Given the description of an element on the screen output the (x, y) to click on. 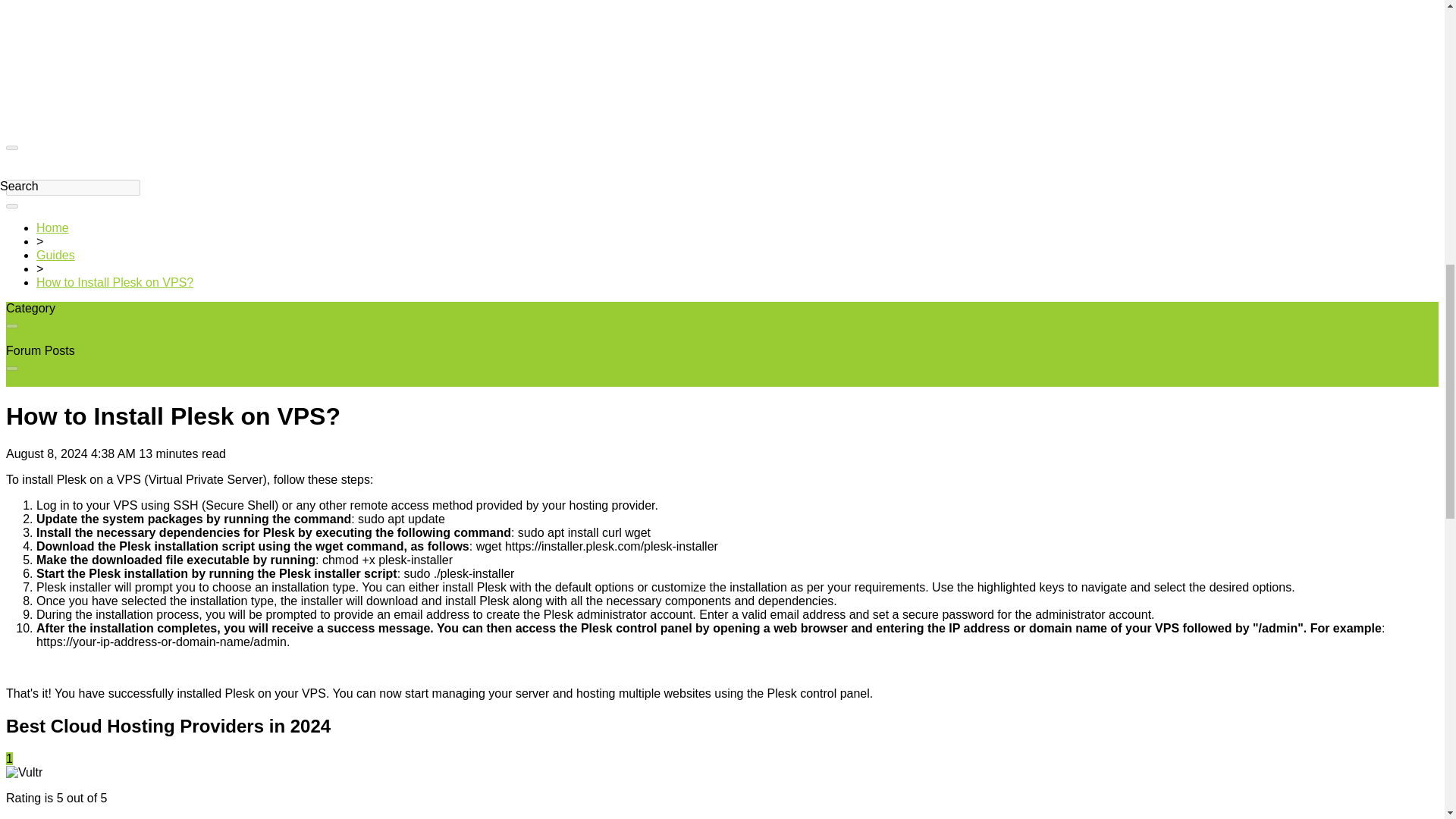
How to Install Plesk on VPS? (114, 282)
Guides (55, 254)
Home (52, 227)
